Given the description of an element on the screen output the (x, y) to click on. 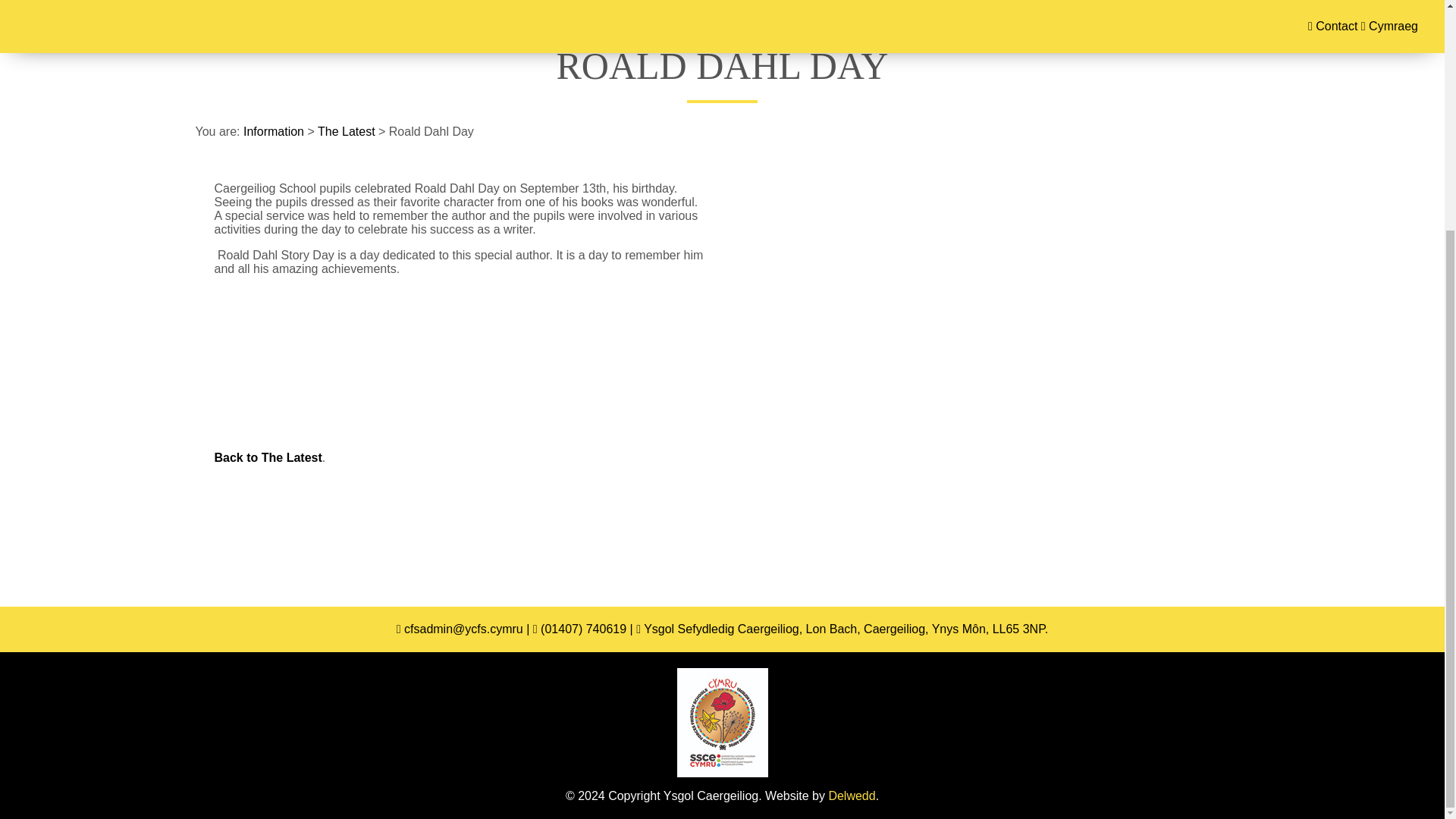
YouTube video player (948, 288)
